Given the description of an element on the screen output the (x, y) to click on. 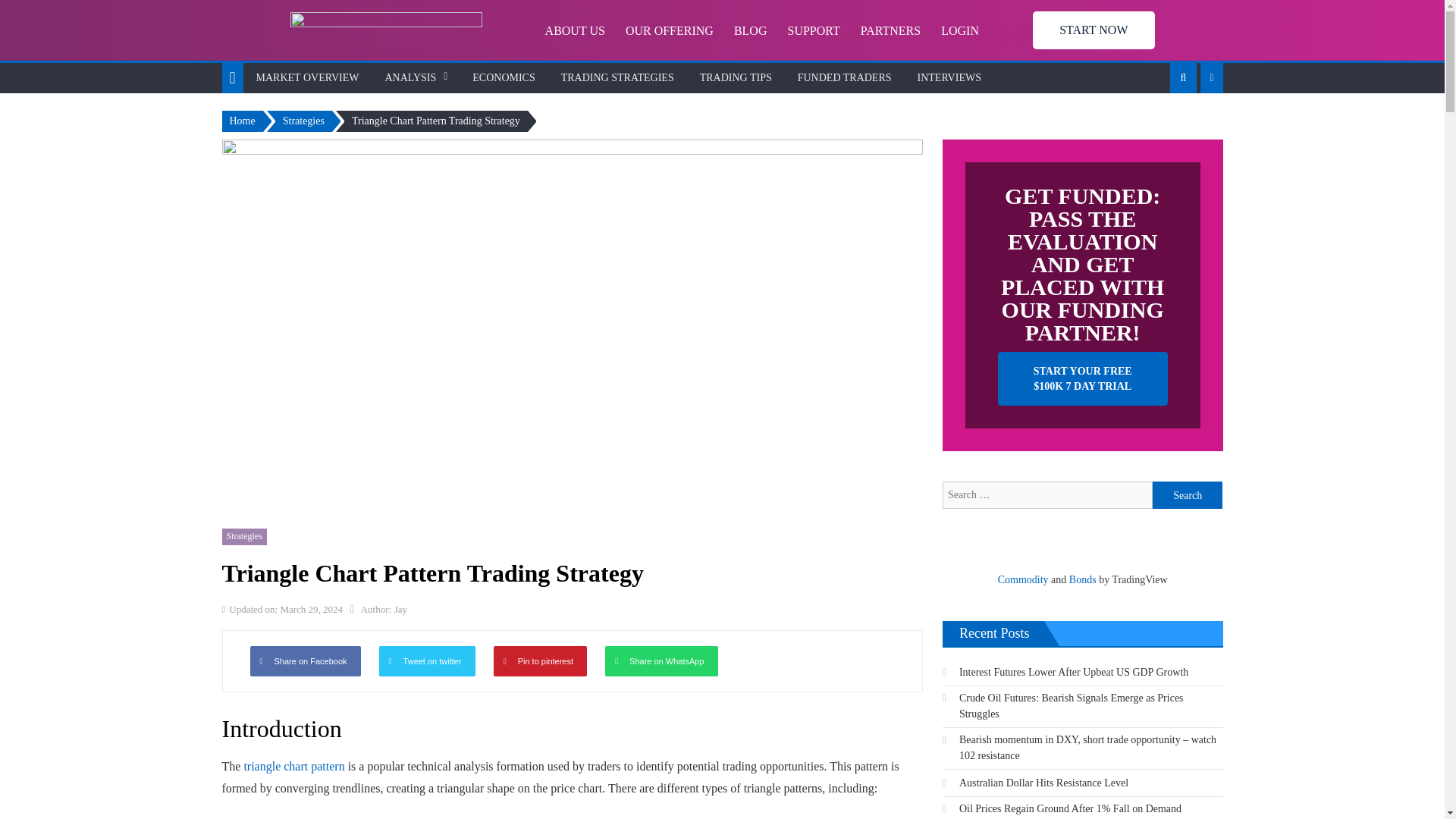
OUR OFFERING (660, 30)
START NOW (1093, 30)
ABOUT US (566, 30)
MARKET OVERVIEW (307, 78)
Search (1188, 494)
BLOG (742, 30)
INTERVIEWS (948, 78)
PARTNERS (882, 30)
ANALYSIS (409, 78)
Contact Us (1093, 30)
